Given the description of an element on the screen output the (x, y) to click on. 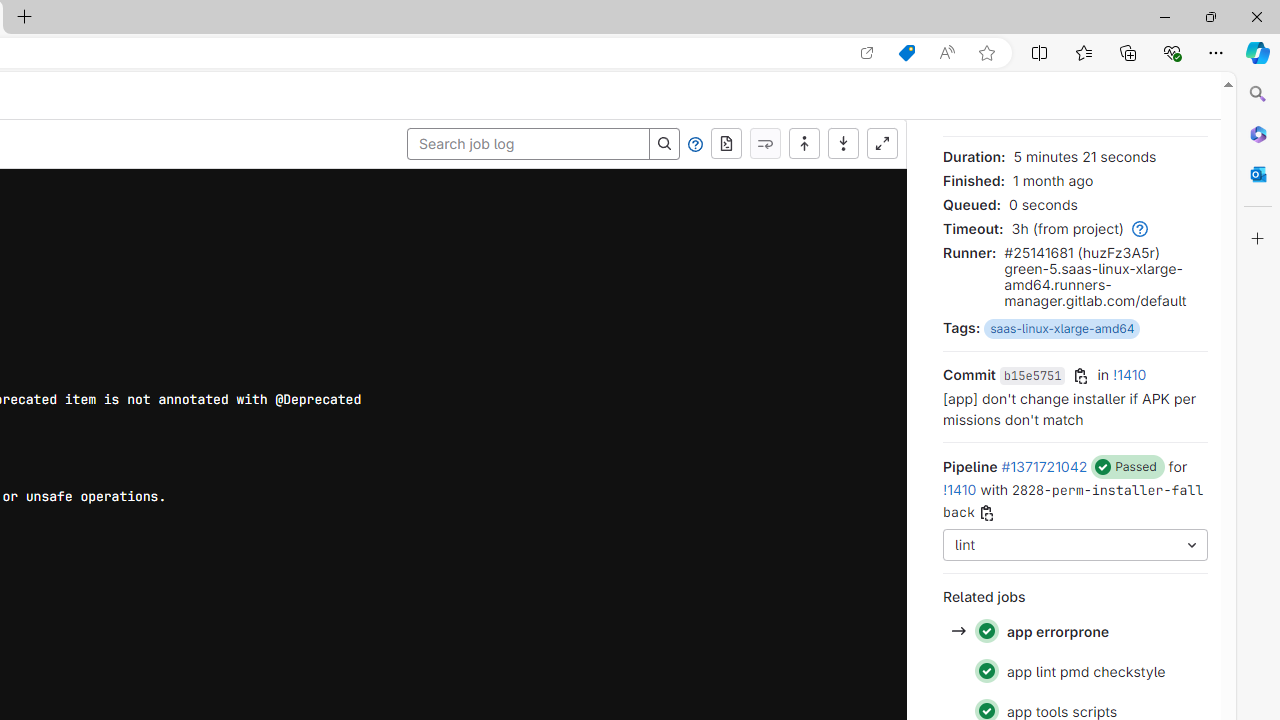
Show full screen (882, 143)
Search job log (528, 143)
Open in app (867, 53)
Status: Passed app lint pmd checkstyle (1073, 670)
